Given the description of an element on the screen output the (x, y) to click on. 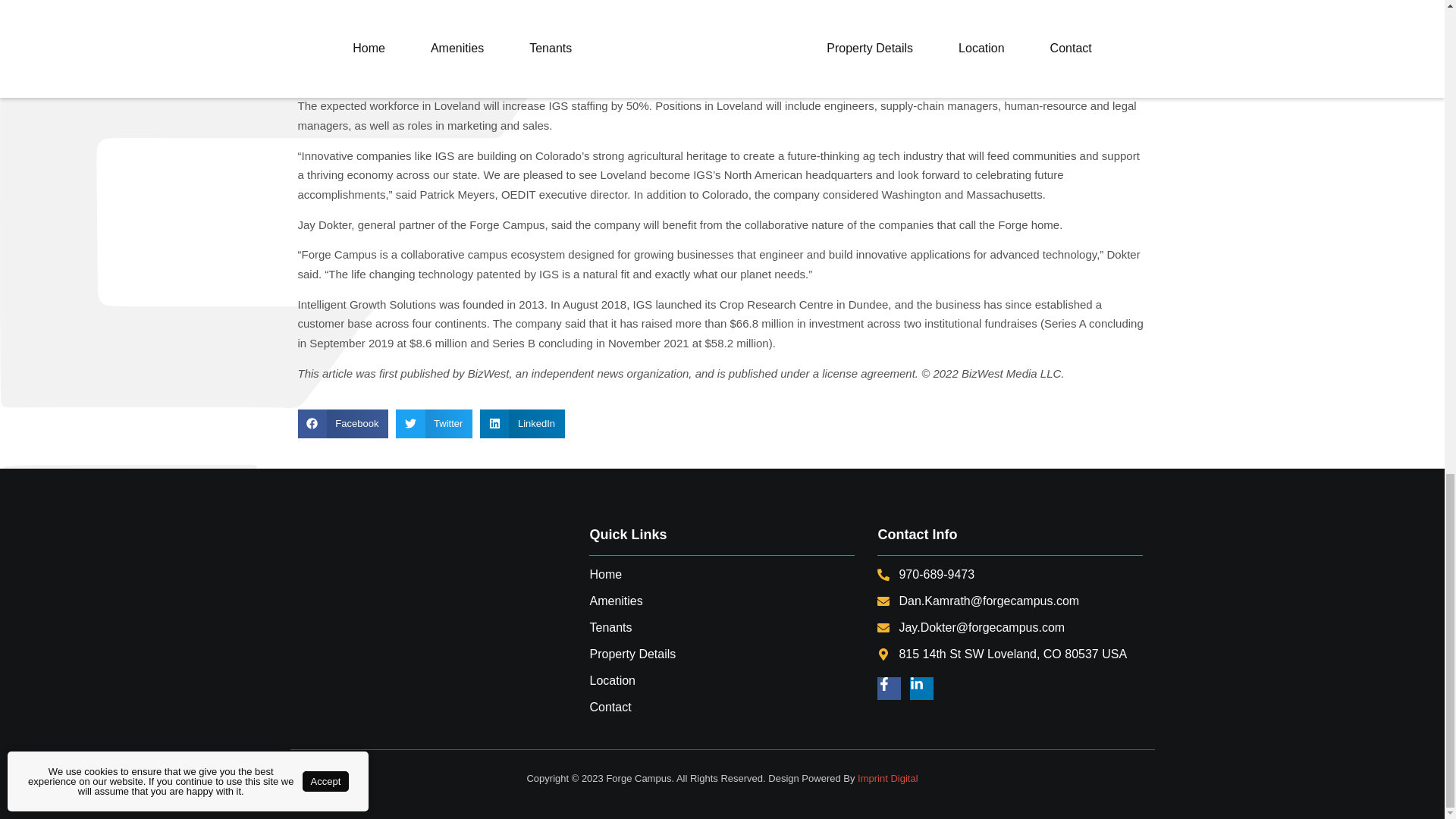
Tenants (721, 627)
Location (721, 680)
Home (721, 574)
Property Details (721, 654)
Contact (721, 707)
Amenities (721, 601)
